Given the description of an element on the screen output the (x, y) to click on. 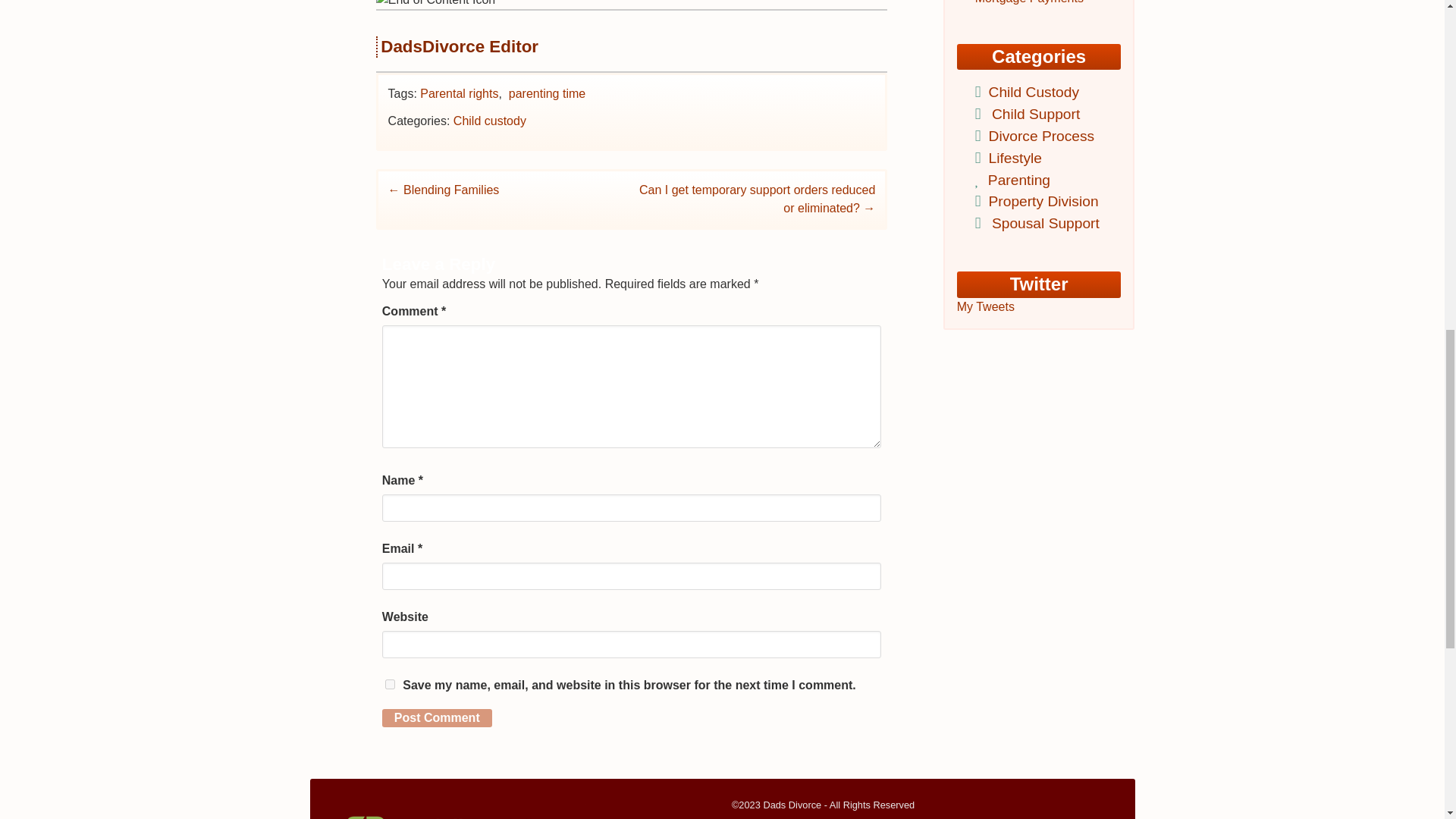
DadsDivorce Editor (459, 46)
All posts by DadsDivorce Editor (459, 46)
Post Comment (436, 718)
Post Comment (436, 718)
yes (389, 684)
parenting time (546, 92)
Child custody (488, 120)
Parental rights (458, 92)
